Given the description of an element on the screen output the (x, y) to click on. 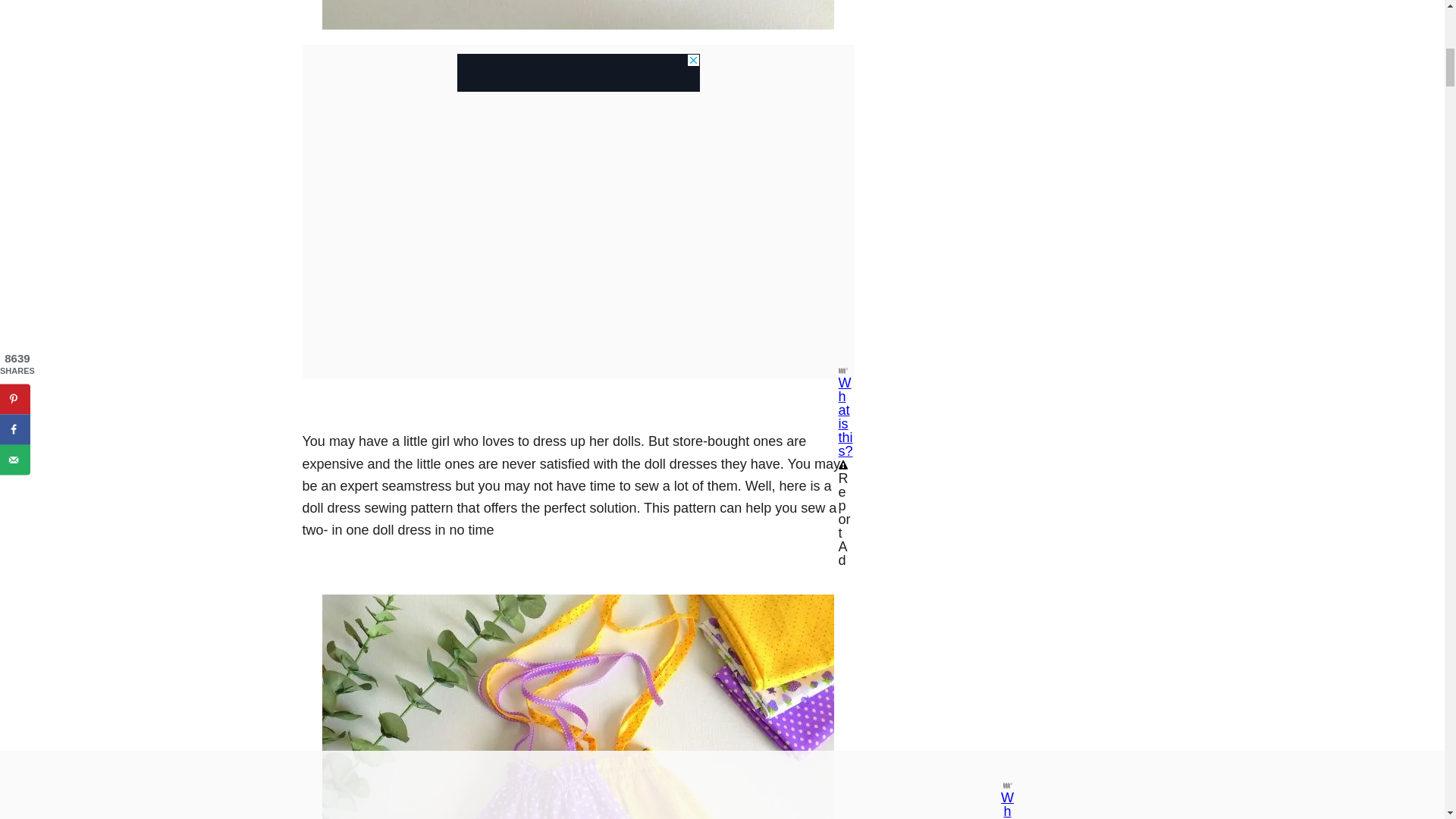
3rd party ad content (577, 63)
